Given the description of an element on the screen output the (x, y) to click on. 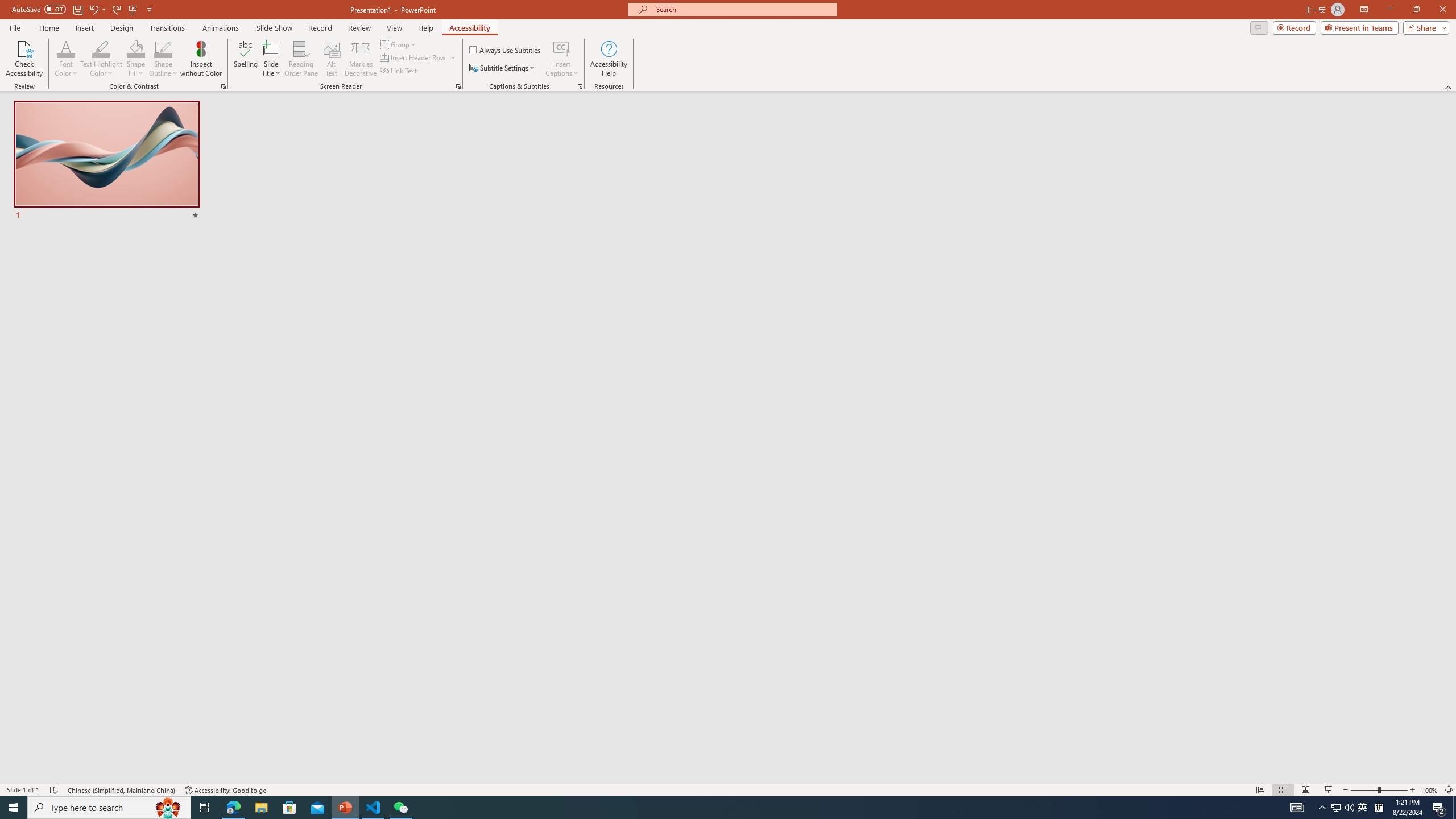
Group (398, 44)
Spelling... (245, 58)
Screen Reader (458, 85)
Zoom 100% (1430, 790)
Subtitle Settings (502, 67)
